Given the description of an element on the screen output the (x, y) to click on. 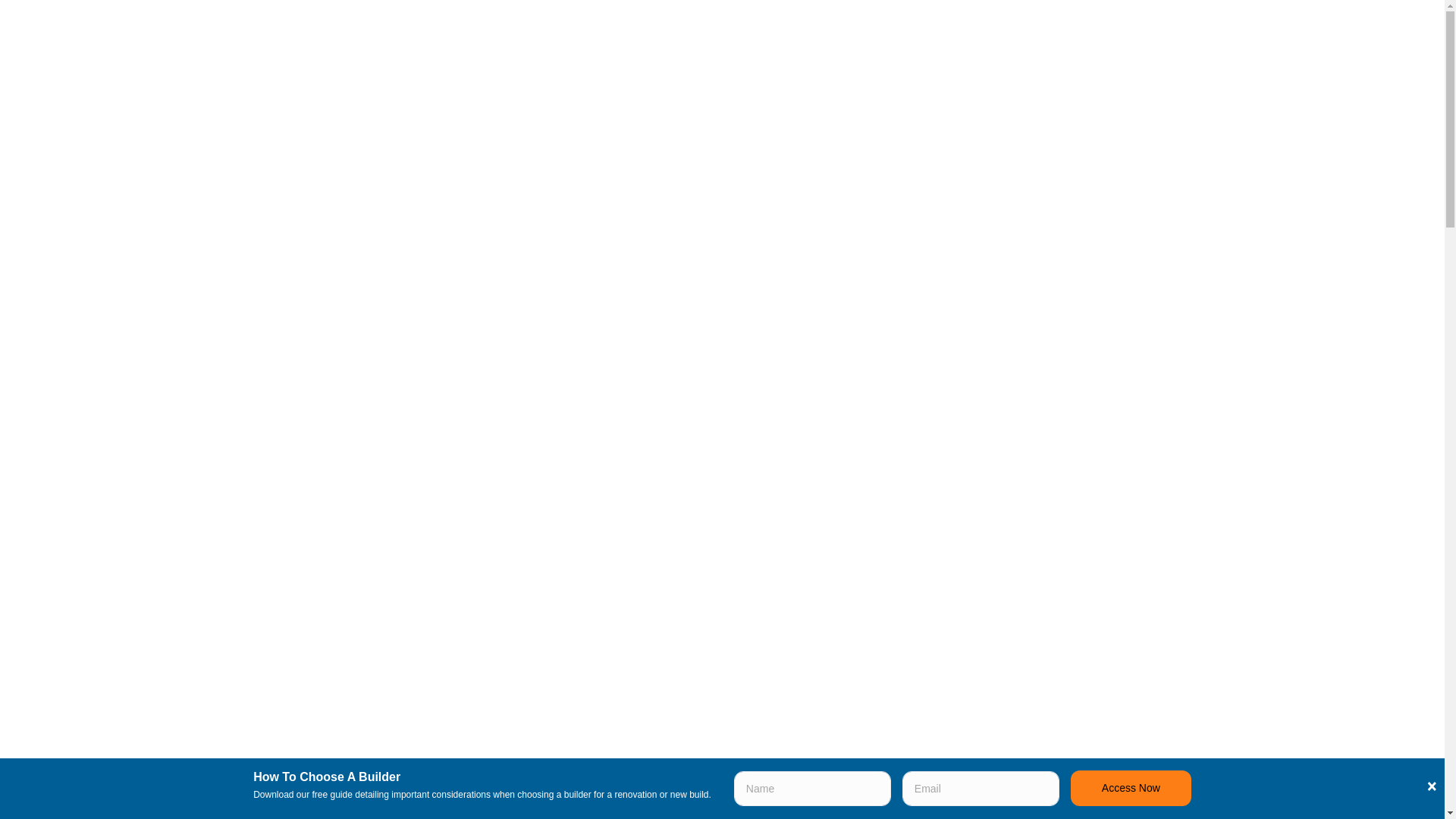
Our Team Element type: text (122, 234)
Contact Us Element type: text (122, 528)
Visit our Facebook page Element type: hover (58, 669)
Our Story Element type: text (122, 194)
Visit our Instagram page Element type: hover (123, 669)
New Homes Element type: text (123, 360)
build@lakconstructions.com.au Element type: text (131, 611)
Contact Us Element type: hover (601, 19)
Projects Element type: text (123, 448)
LAK CONSTRUCTIONS Element type: text (410, 28)
Visit our Linkedin profile Element type: hover (80, 669)
Services Element type: text (122, 325)
Get In Touch Element type: text (601, 19)
0408 181 558 Element type: text (94, 645)
About Us Element type: text (122, 160)
Visit our Youtube channel Element type: hover (102, 669)
Skip to main content Element type: text (0, 0)
Testimonials Element type: text (123, 488)
Home Element type: text (122, 117)
Renovations Element type: text (122, 400)
Our Awards Element type: text (122, 275)
